Given the description of an element on the screen output the (x, y) to click on. 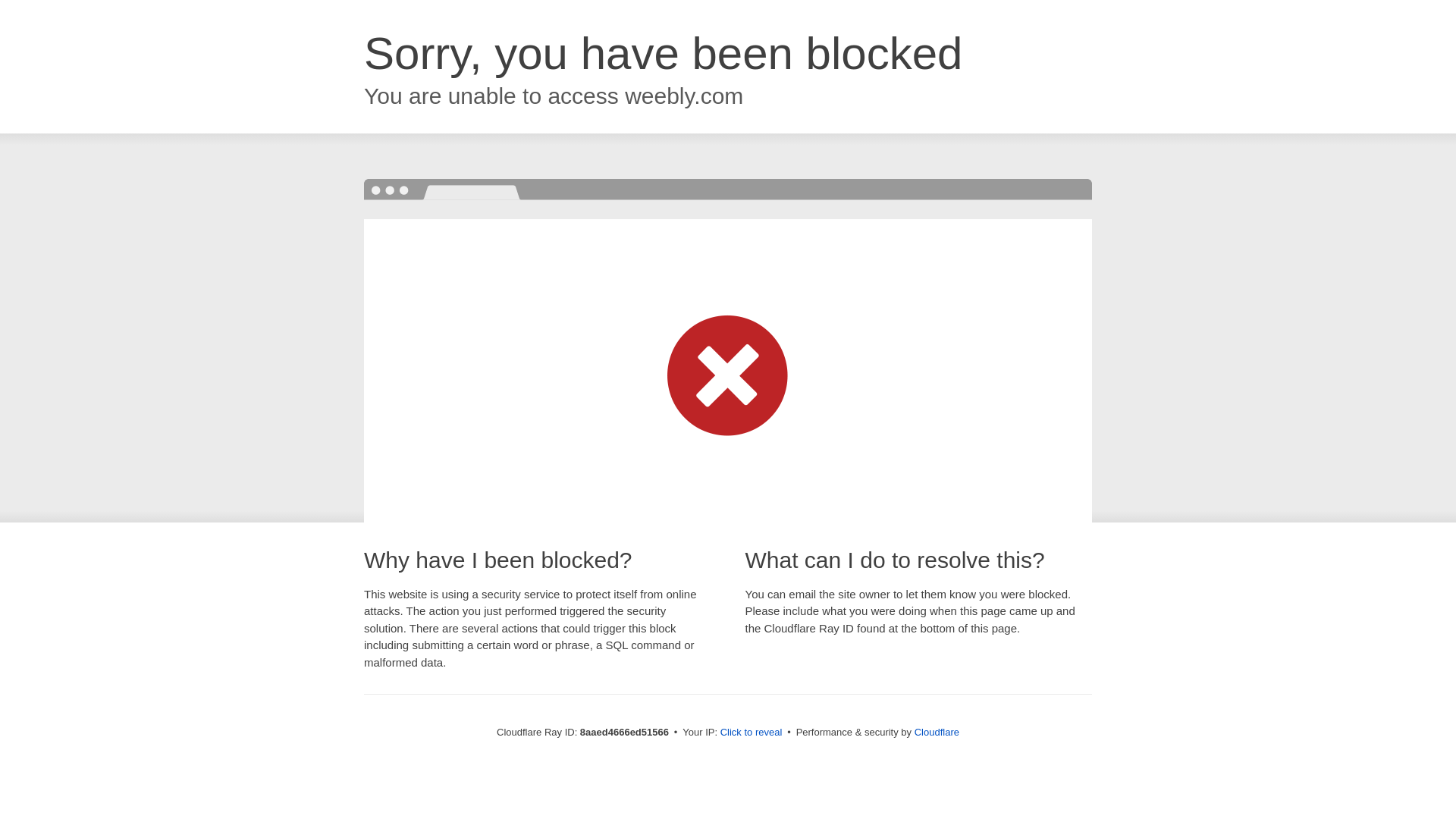
Cloudflare (936, 731)
Click to reveal (751, 732)
